Given the description of an element on the screen output the (x, y) to click on. 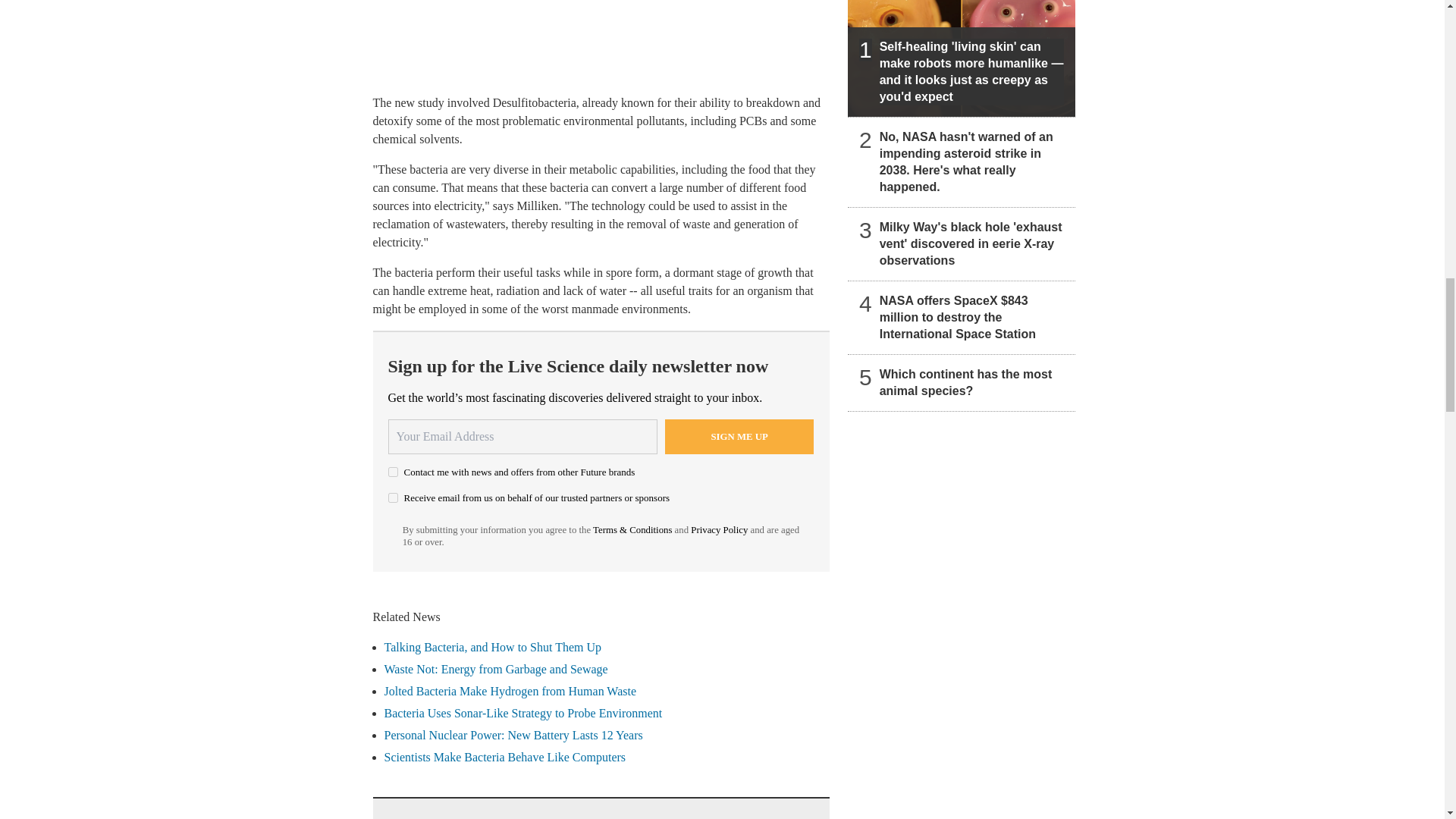
Sign me up (739, 436)
on (392, 497)
on (392, 471)
